Given the description of an element on the screen output the (x, y) to click on. 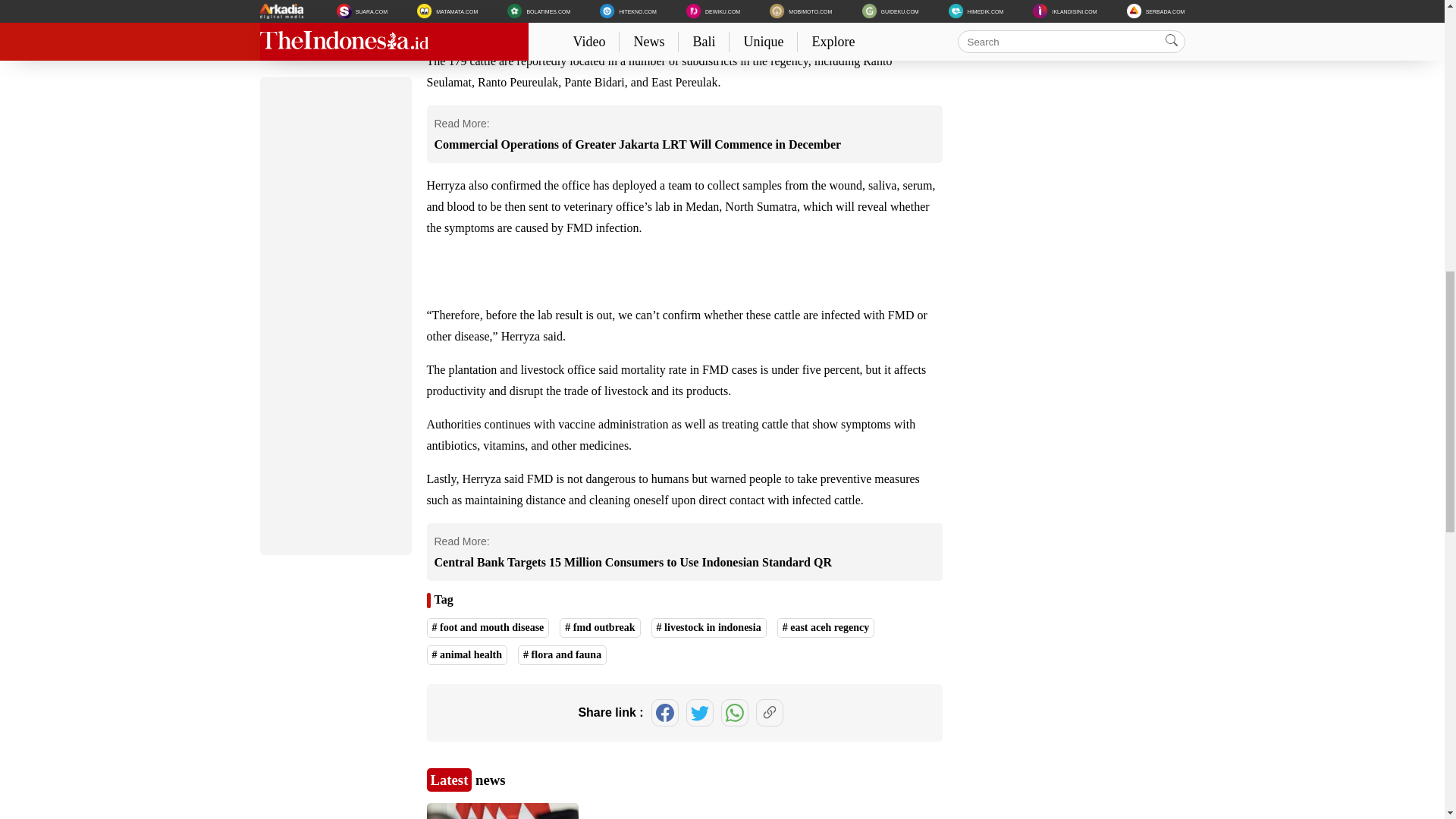
livestock in indonesia (708, 628)
flora and fauna (562, 655)
foot and mouth disease (487, 628)
fmd outbreak (599, 628)
animal health (466, 655)
east aceh regency (826, 628)
